Given the description of an element on the screen output the (x, y) to click on. 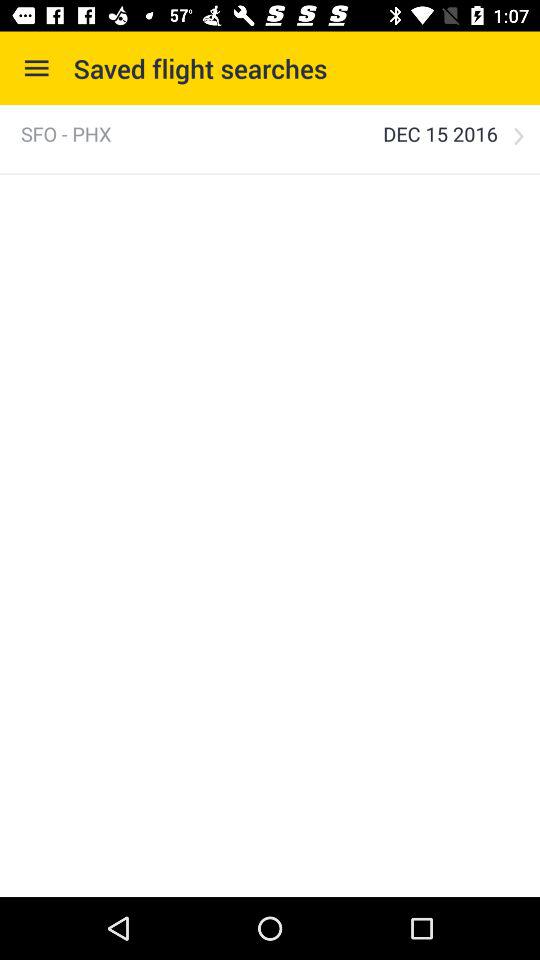
launch the icon next to the dec 15 2016 icon (66, 133)
